Given the description of an element on the screen output the (x, y) to click on. 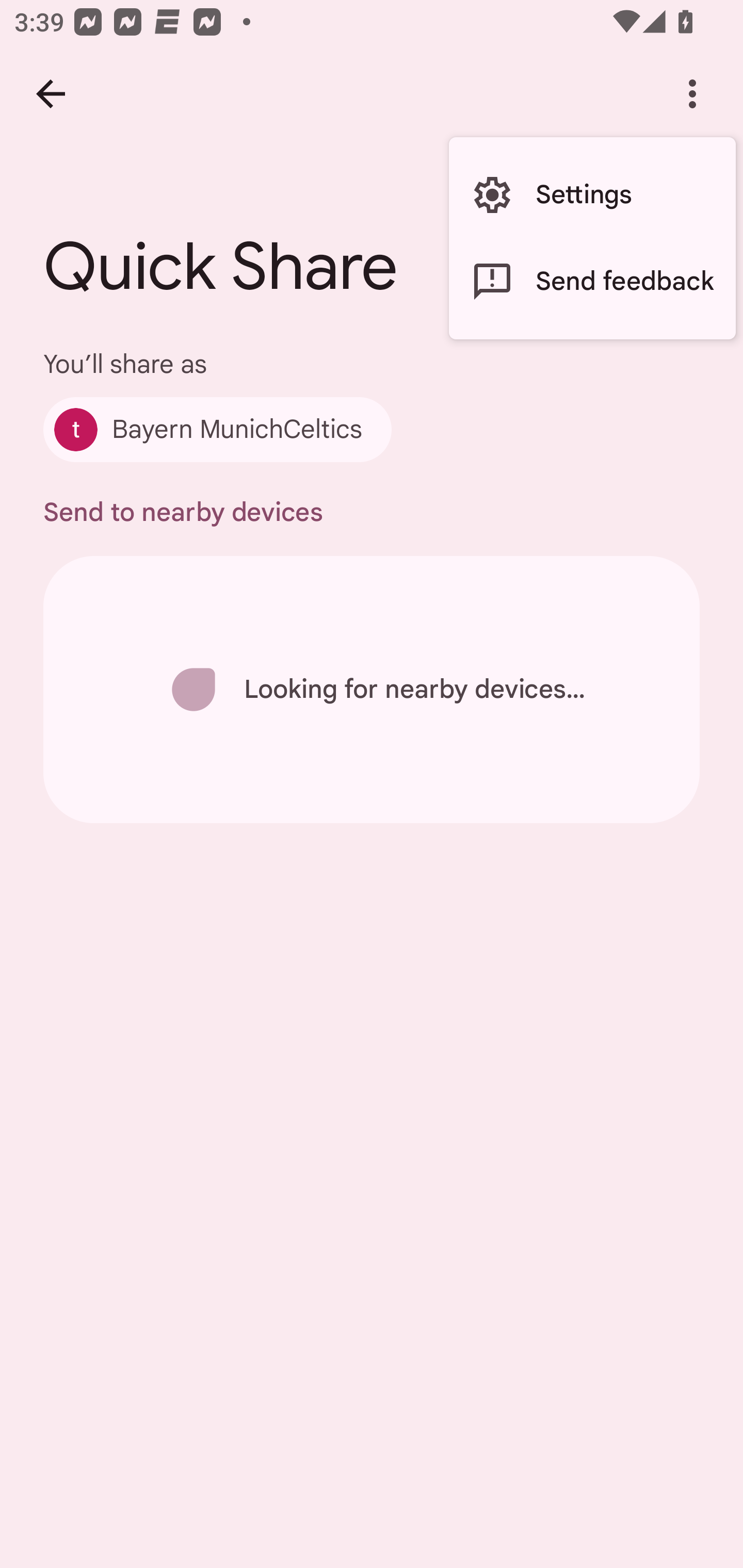
Settings (591, 195)
Send feedback (591, 281)
